Given the description of an element on the screen output the (x, y) to click on. 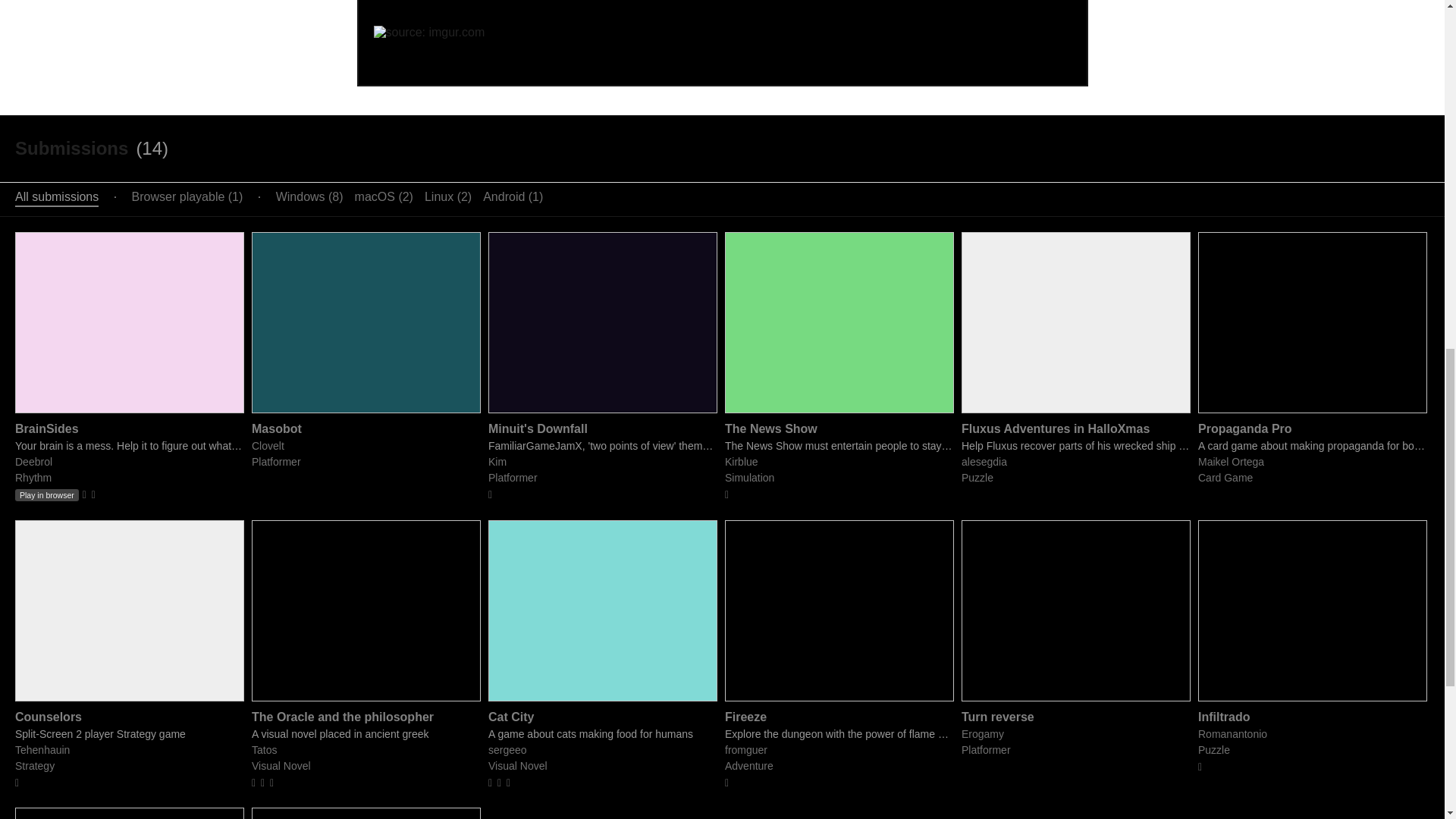
Split-Screen 2 player Strategy game (129, 734)
source: imgur.com (428, 32)
The News Show must entertain people to stay profitable. (839, 445)
BrainSides (46, 428)
Deebrol (33, 461)
A card game about making propaganda for both sides of a war (1312, 445)
A visual novel placed in ancient greek (365, 734)
